Given the description of an element on the screen output the (x, y) to click on. 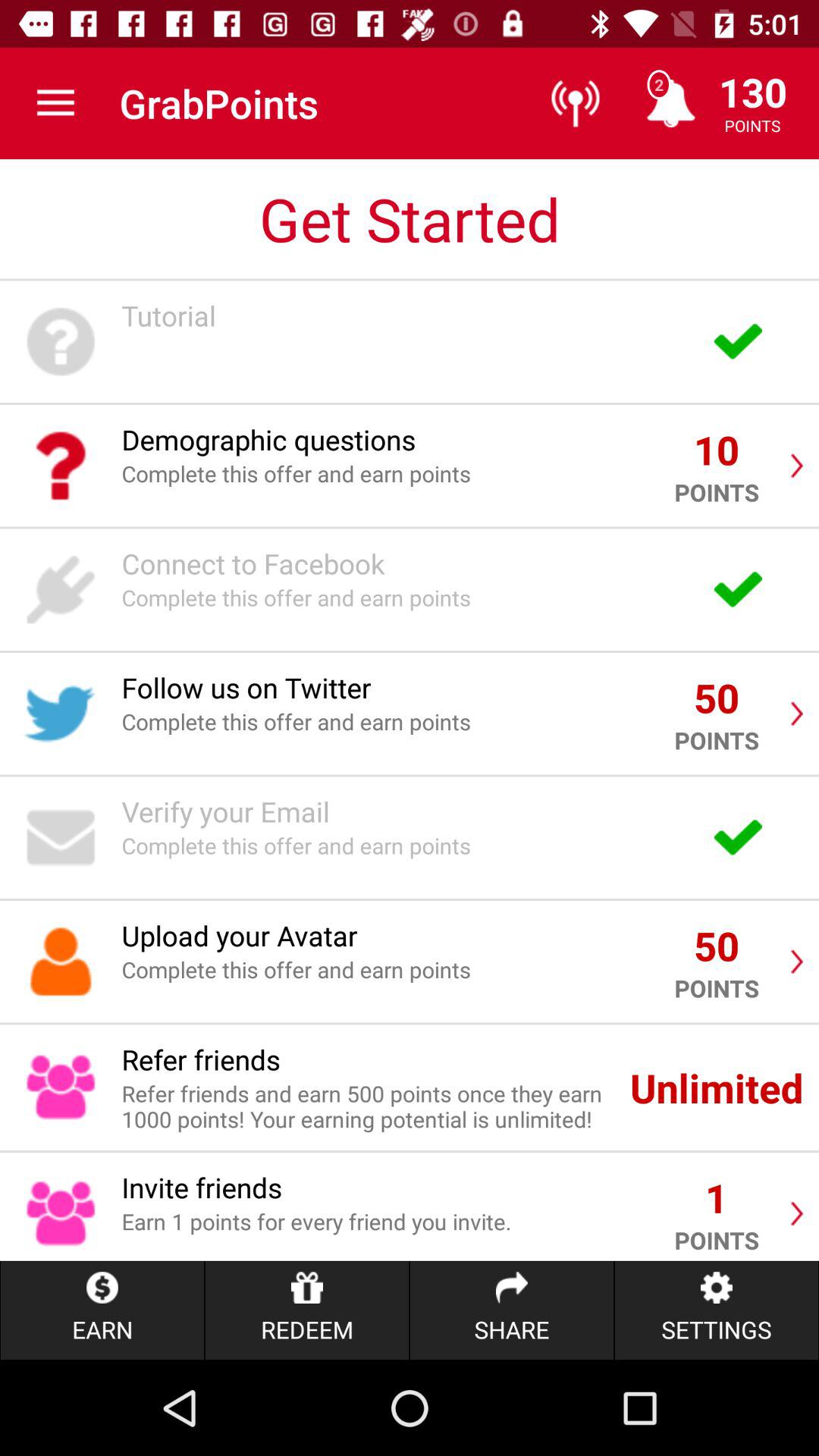
press the share (511, 1310)
